Given the description of an element on the screen output the (x, y) to click on. 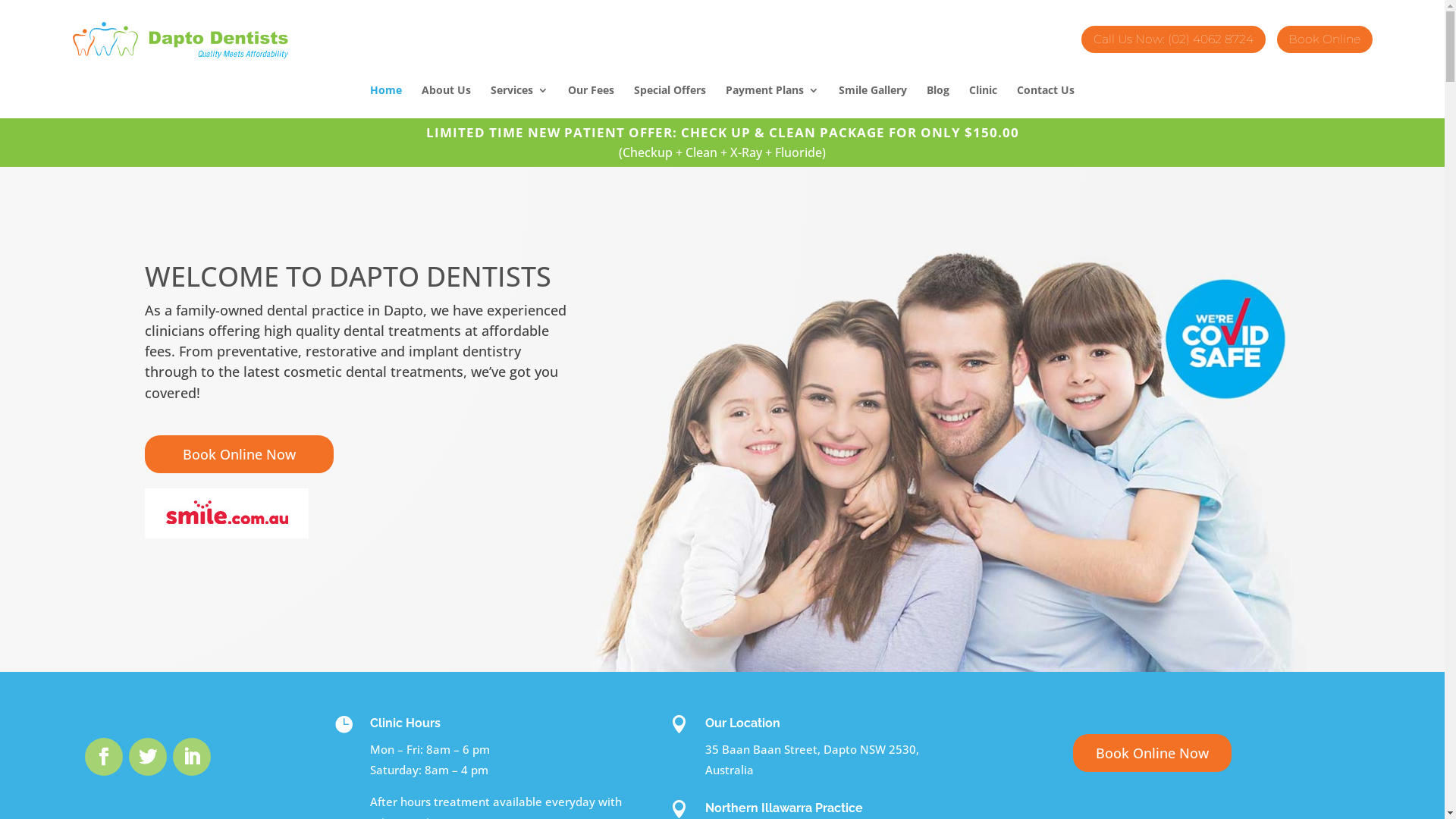
Smile Gallery Element type: text (872, 101)
Payment Plans Element type: text (772, 101)
Book Online Element type: text (1324, 36)
Book Online Now Element type: text (1152, 753)
Contact Us Element type: text (1045, 101)
Book Online Now Element type: text (238, 454)
smile.com.au Element type: hover (225, 513)
Follow on LinkedIn Element type: hover (191, 756)
Services Element type: text (519, 101)
Clinic Element type: text (983, 101)
35 Baan Baan Street, Dapto NSW 2530, Australia Element type: text (812, 759)
Follow on Twitter Element type: hover (147, 756)
Call Us Now: (02) 4062 8724 Element type: text (1172, 36)
Special Offers Element type: text (669, 101)
About Us Element type: text (445, 101)
Follow on Facebook Element type: hover (103, 756)
Home Element type: text (385, 101)
Blog Element type: text (937, 101)
Our Fees Element type: text (590, 101)
